Given the description of an element on the screen output the (x, y) to click on. 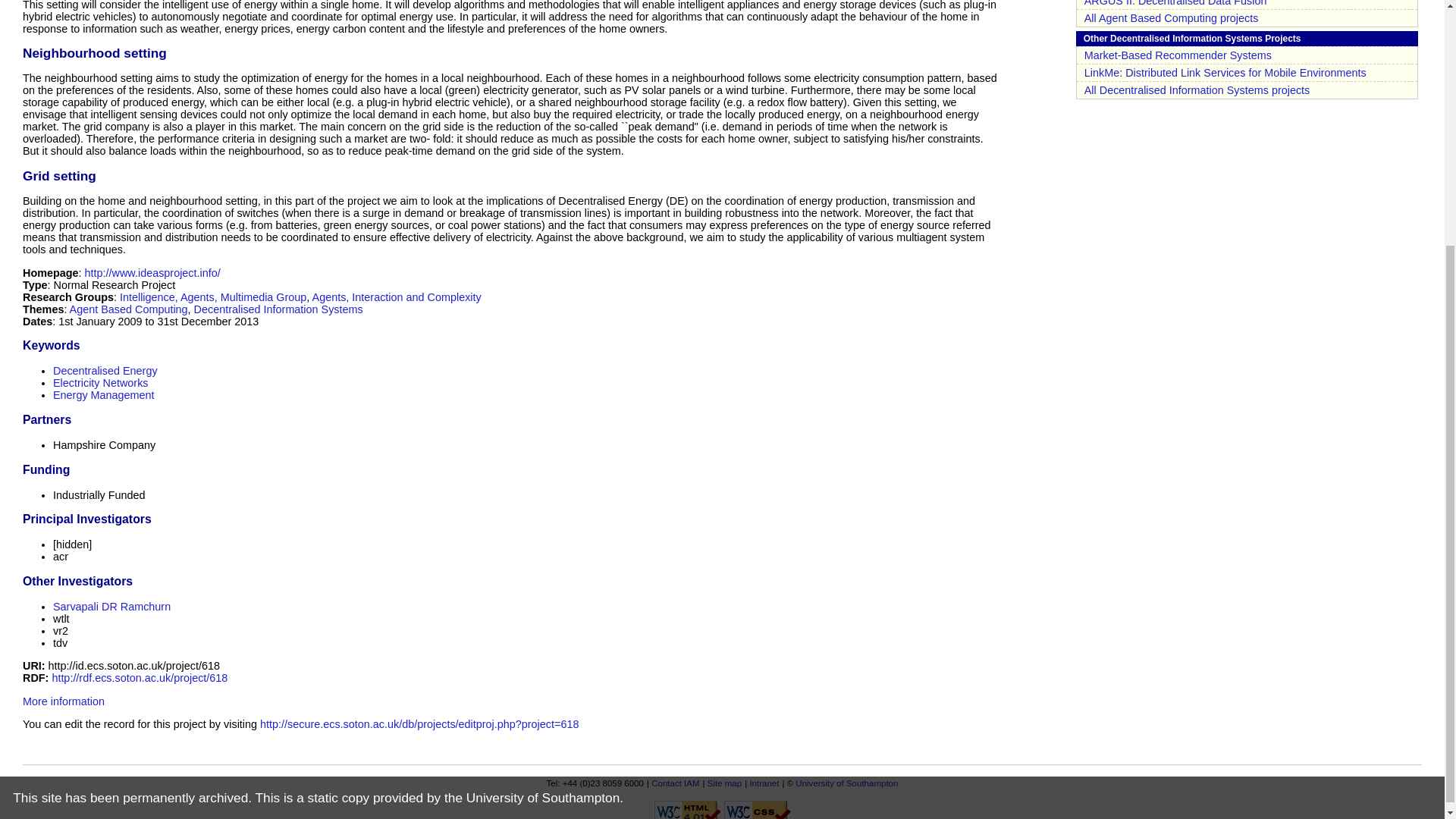
Electricity Networks (100, 382)
More information (63, 701)
Energy Management (103, 395)
LinkMe: Distributed Link Services for Mobile Environments (1225, 72)
All Agent Based Computing projects (1171, 18)
Market-Based Recommender Systems (1177, 55)
Intelligence, Agents, Multimedia Group (212, 297)
Sarvapali DR Ramchurn (111, 606)
Agents, Interaction and Complexity (397, 297)
All Decentralised Information Systems projects (1197, 90)
Decentralised Energy (104, 370)
ARGUS II: Decentralised Data Fusion (1175, 3)
Agent Based Computing (128, 309)
Decentralised Information Systems (277, 309)
